Given the description of an element on the screen output the (x, y) to click on. 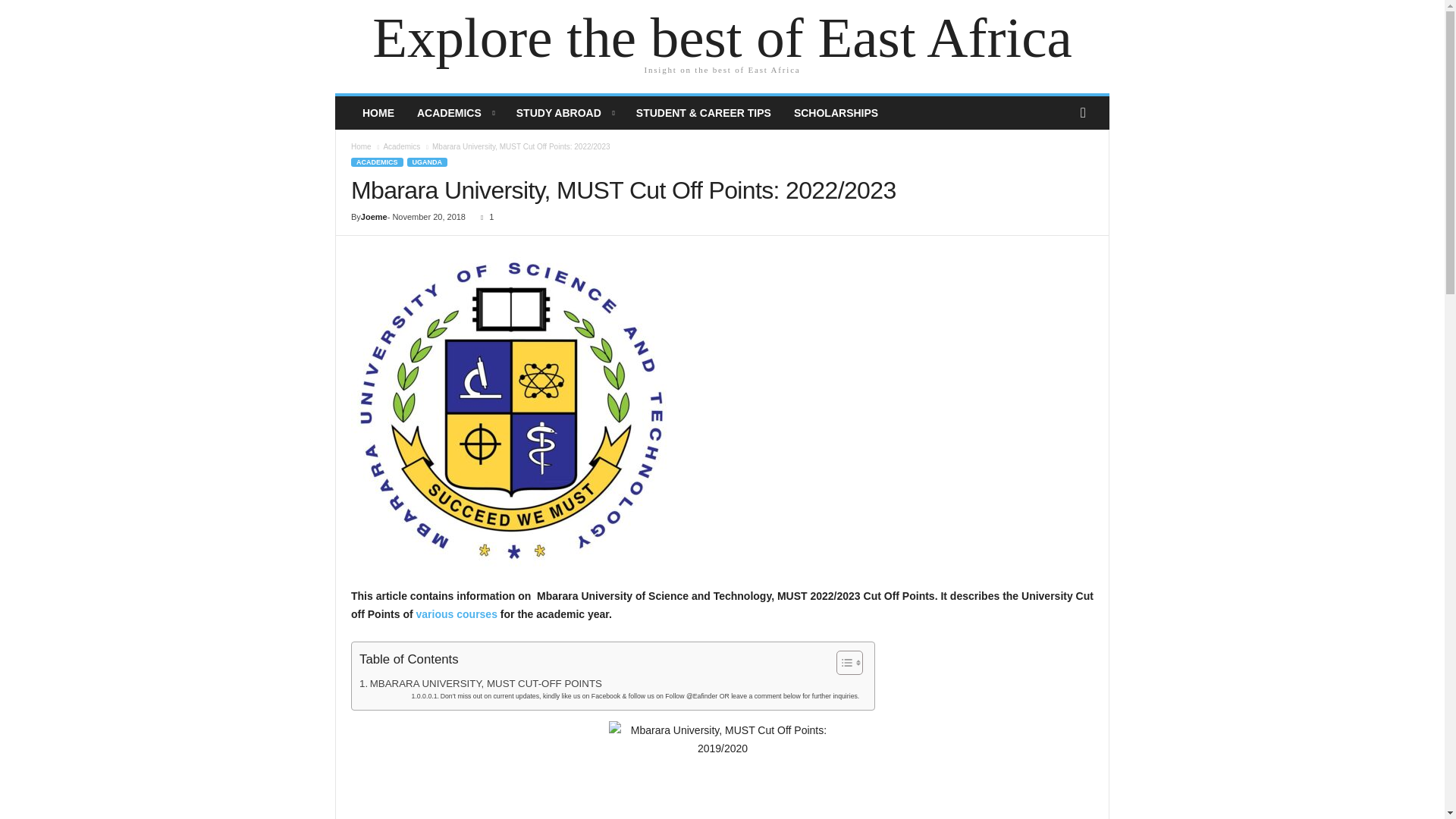
HOME (378, 112)
ACADEMICS (376, 162)
Academics (401, 146)
Home (360, 146)
STUDY ABROAD (564, 112)
SCHOLARSHIPS (836, 112)
Explore the best of East Africa (721, 38)
ACADEMICS (455, 112)
View all posts in Academics (401, 146)
